Given the description of an element on the screen output the (x, y) to click on. 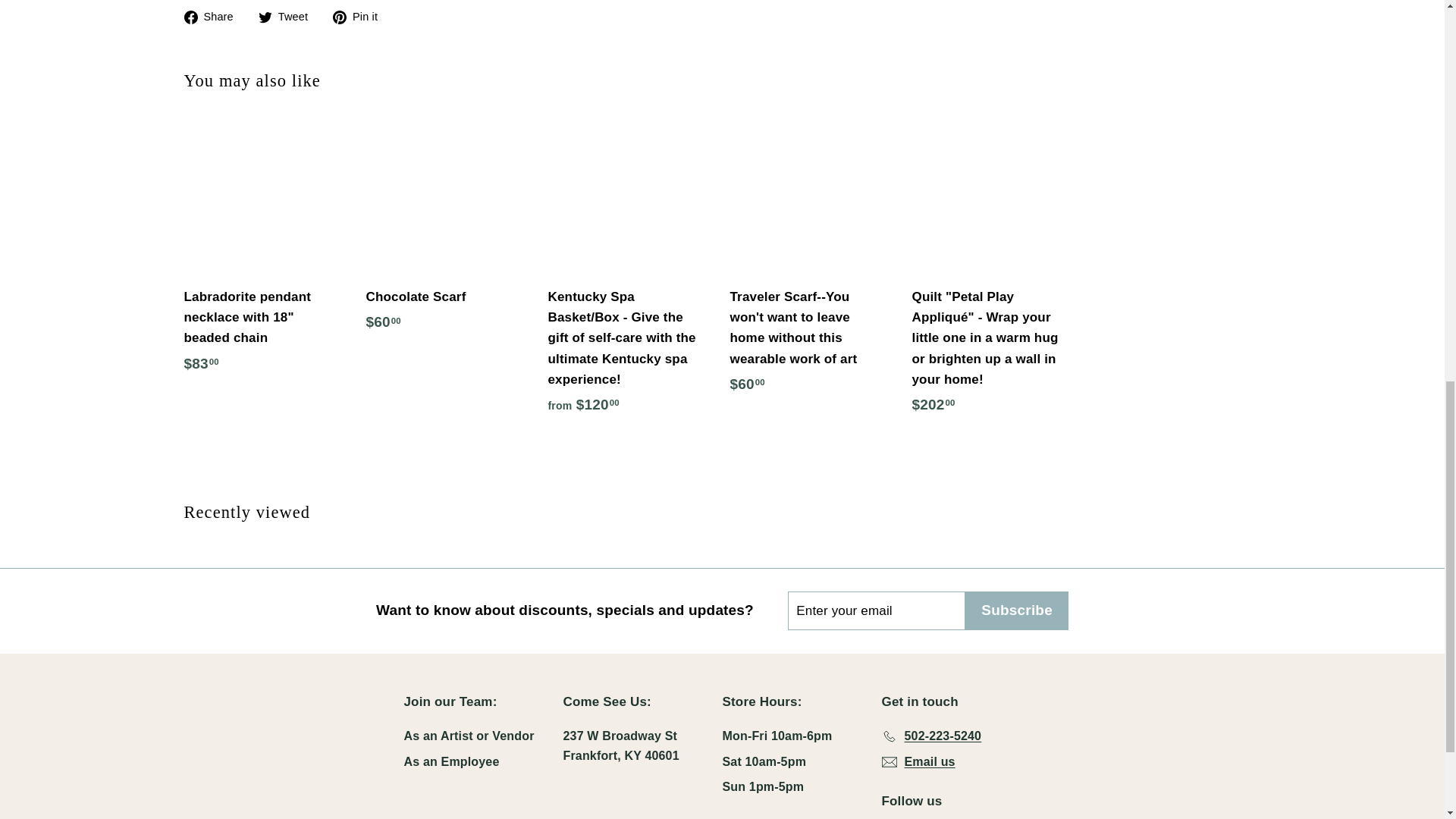
Tweet on Twitter (288, 15)
Share on Facebook (213, 15)
Pin on Pinterest (360, 15)
